Given the description of an element on the screen output the (x, y) to click on. 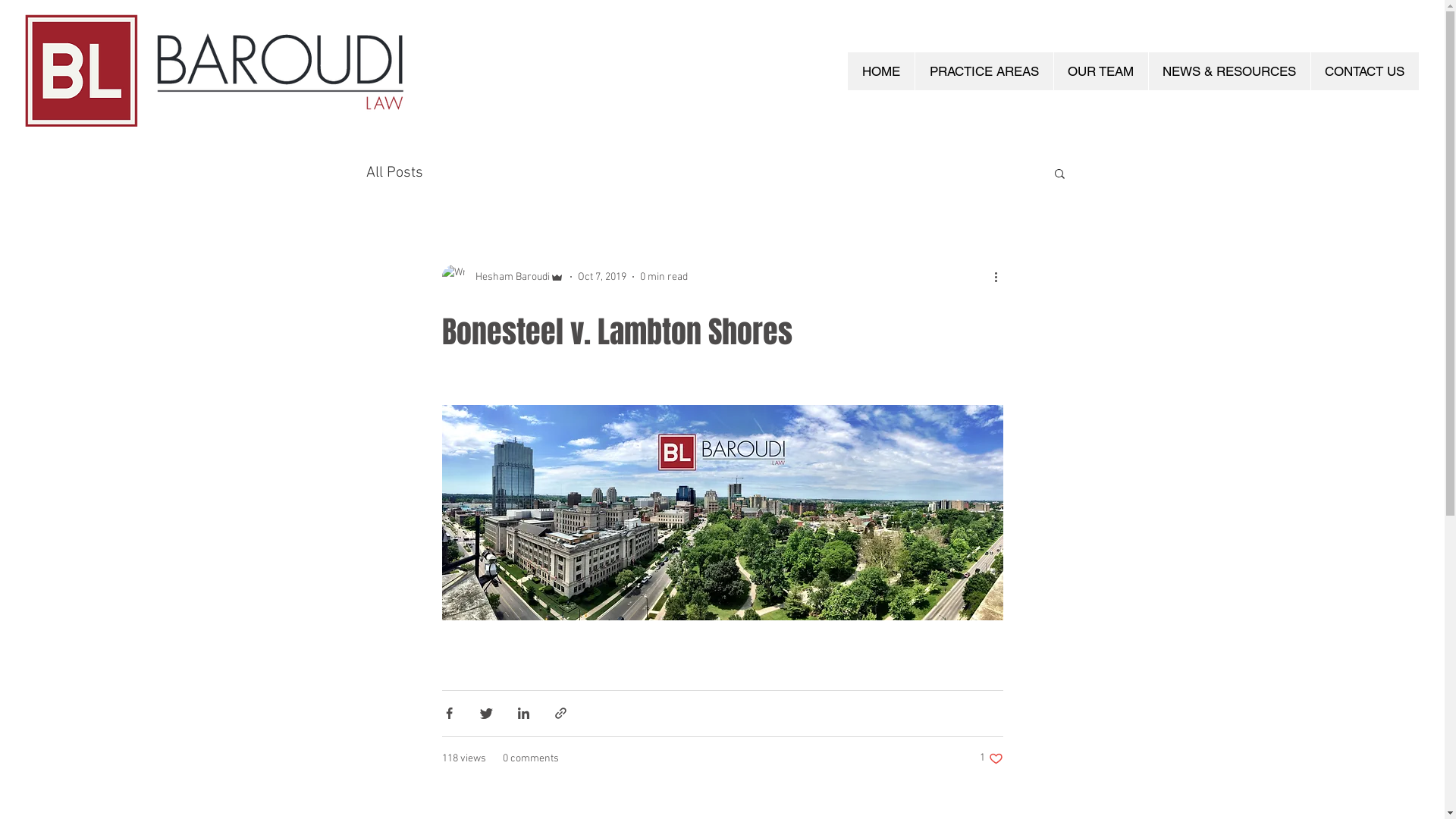
CONTACT US Element type: text (1364, 71)
OUR TEAM Element type: text (1099, 71)
NEWS & RESOURCES Element type: text (1229, 71)
1 like. Post not marked as liked
1 Element type: text (991, 758)
All Posts Element type: text (393, 172)
PRACTICE AREAS Element type: text (983, 71)
HOME Element type: text (880, 71)
